Given the description of an element on the screen output the (x, y) to click on. 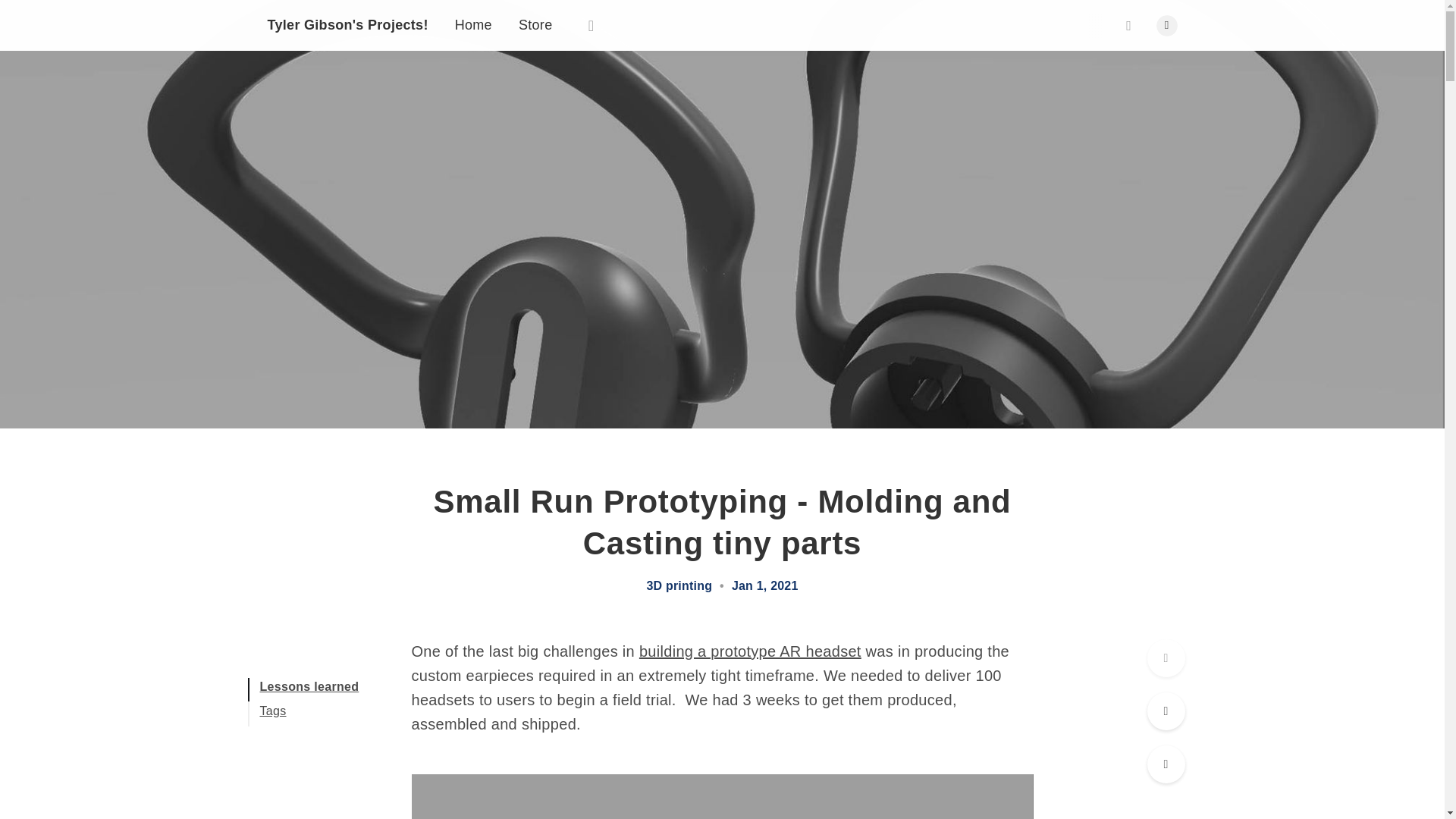
Store (535, 24)
Home (473, 24)
Lessons learned (308, 686)
building a prototype AR headset (750, 651)
3D printing (678, 585)
Tags (272, 710)
Tyler Gibson's Projects! (347, 24)
